Given the description of an element on the screen output the (x, y) to click on. 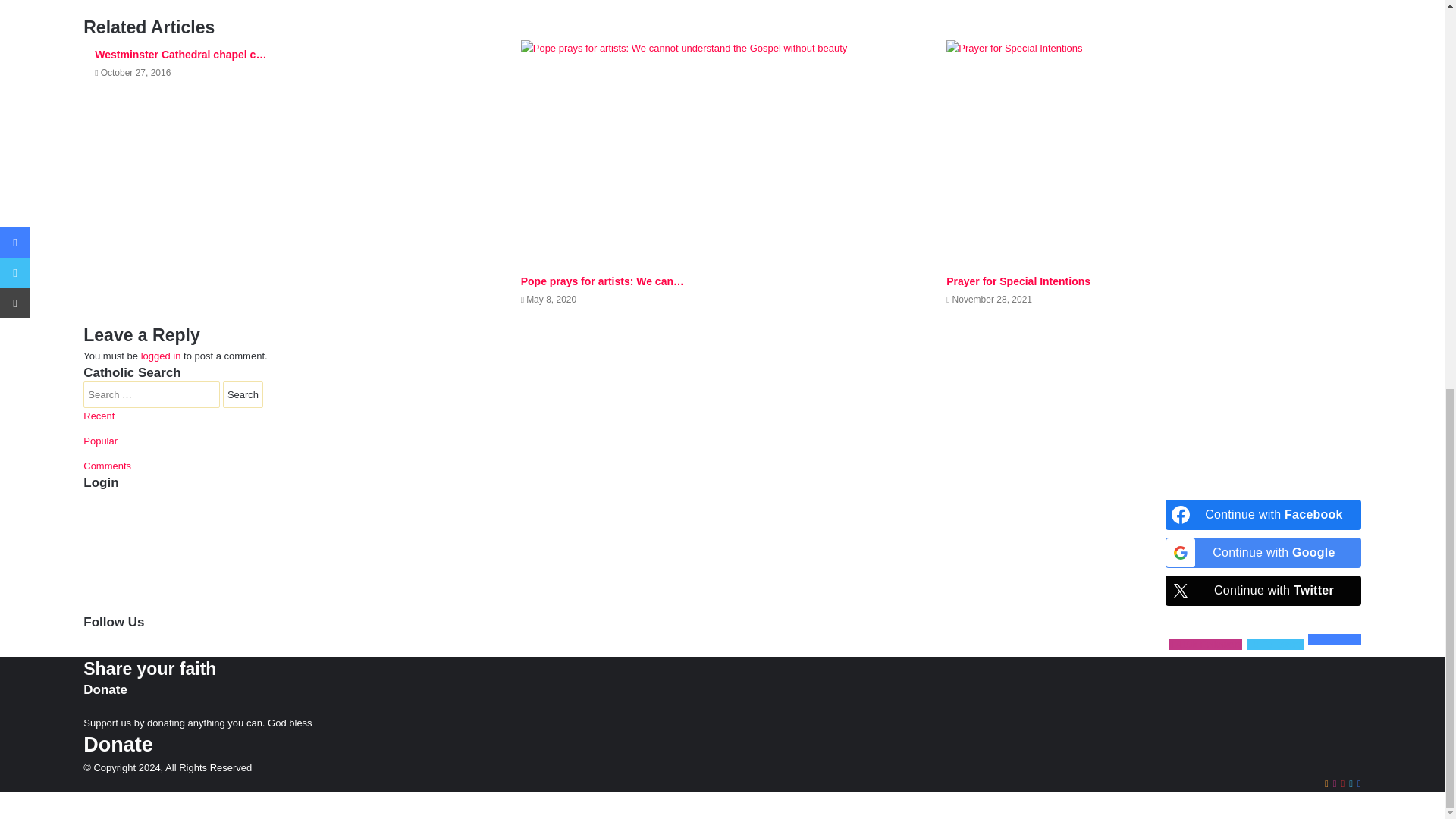
Search (242, 394)
Search (242, 394)
